Given the description of an element on the screen output the (x, y) to click on. 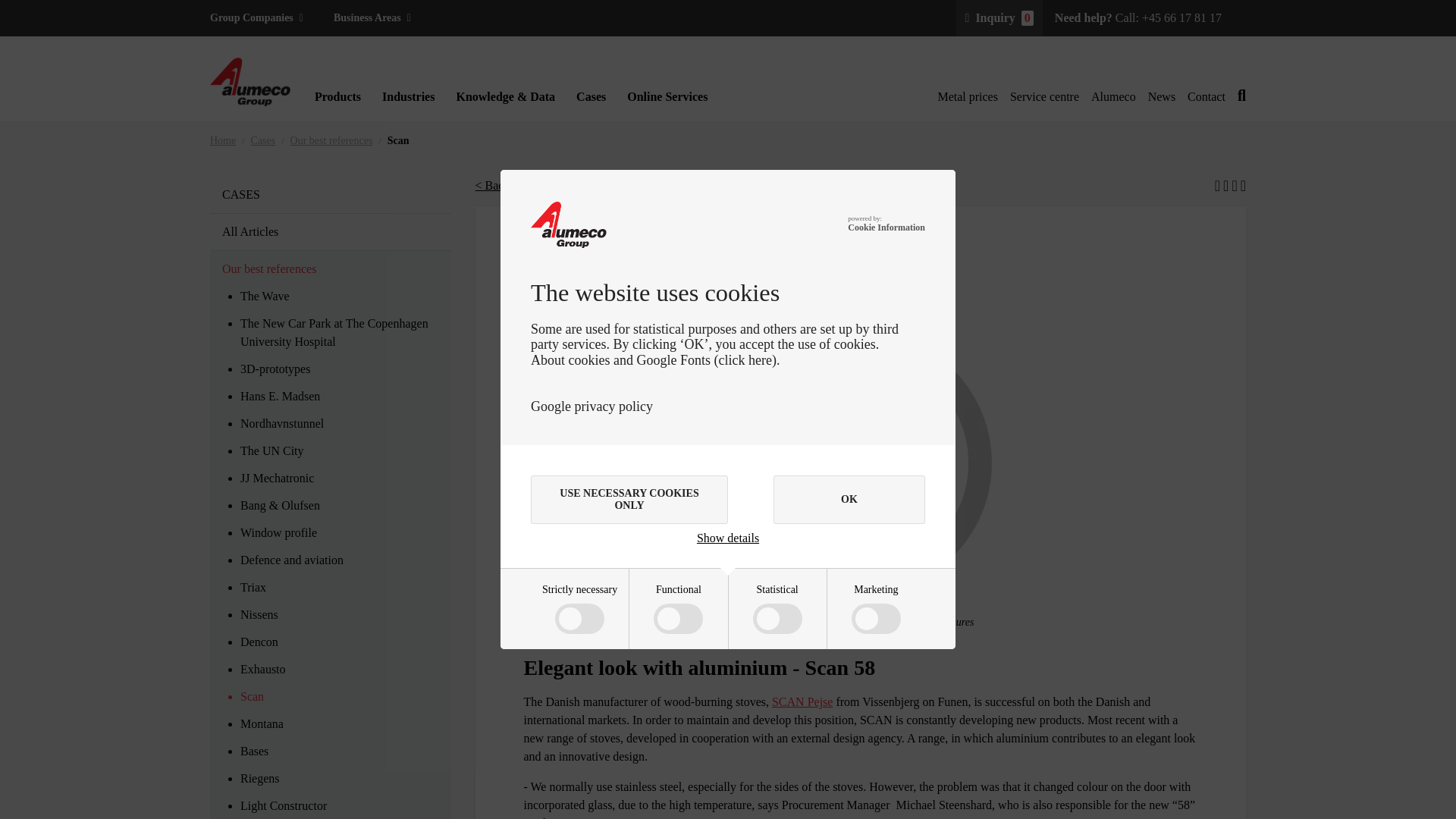
Cookie Information (885, 227)
Show details (727, 538)
OK (848, 499)
Google privacy policy (591, 406)
USE NECESSARY COOKIES ONLY (629, 499)
